Given the description of an element on the screen output the (x, y) to click on. 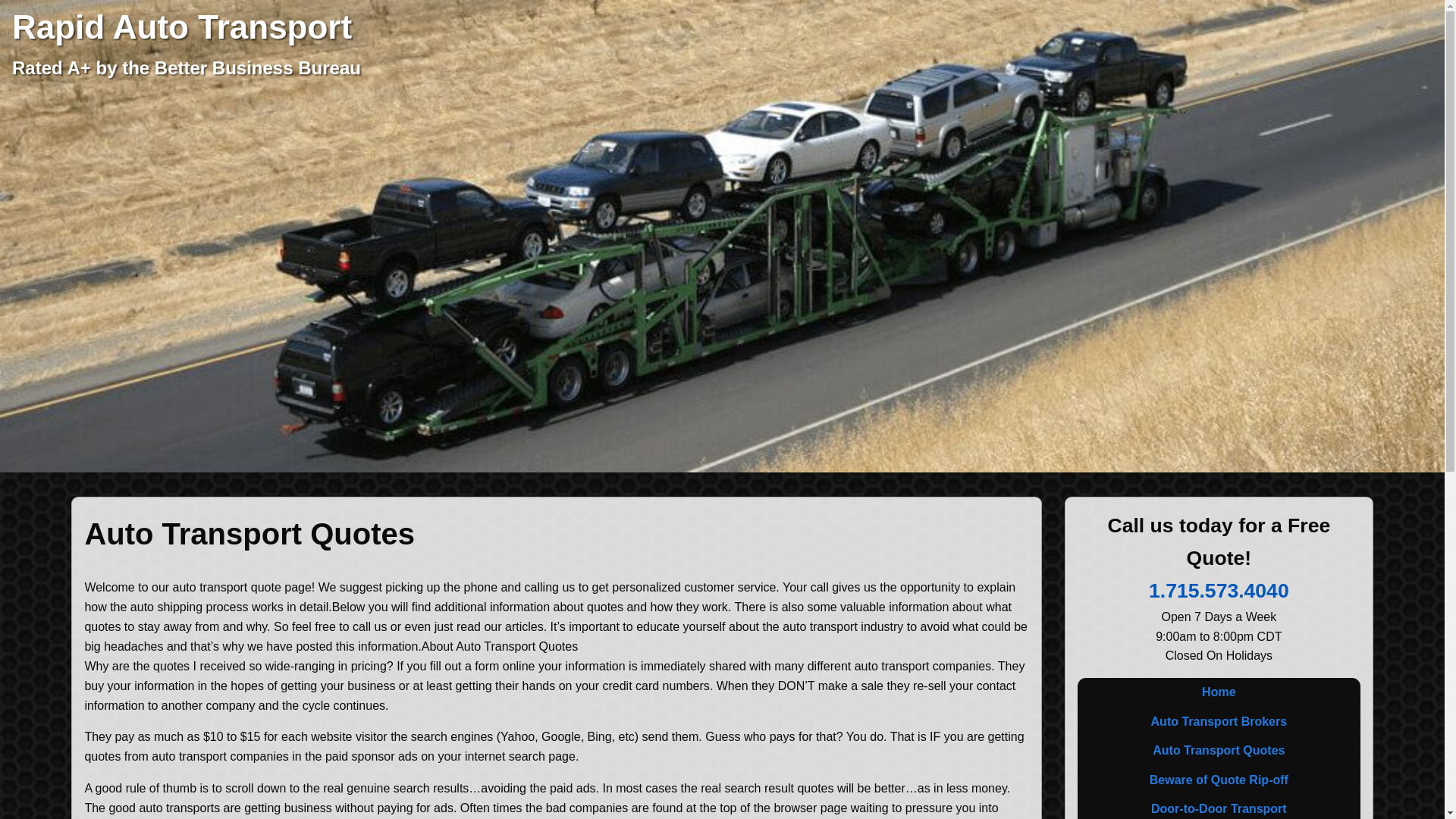
Beware of Quote Rip-off (1218, 778)
Door-to-Door Transport (1218, 806)
Call us today! (1218, 590)
1.715.573.4040 (1218, 590)
Auto Transport Brokers (1218, 721)
Auto Transport Quotes (1218, 750)
Home (1218, 692)
